Given the description of an element on the screen output the (x, y) to click on. 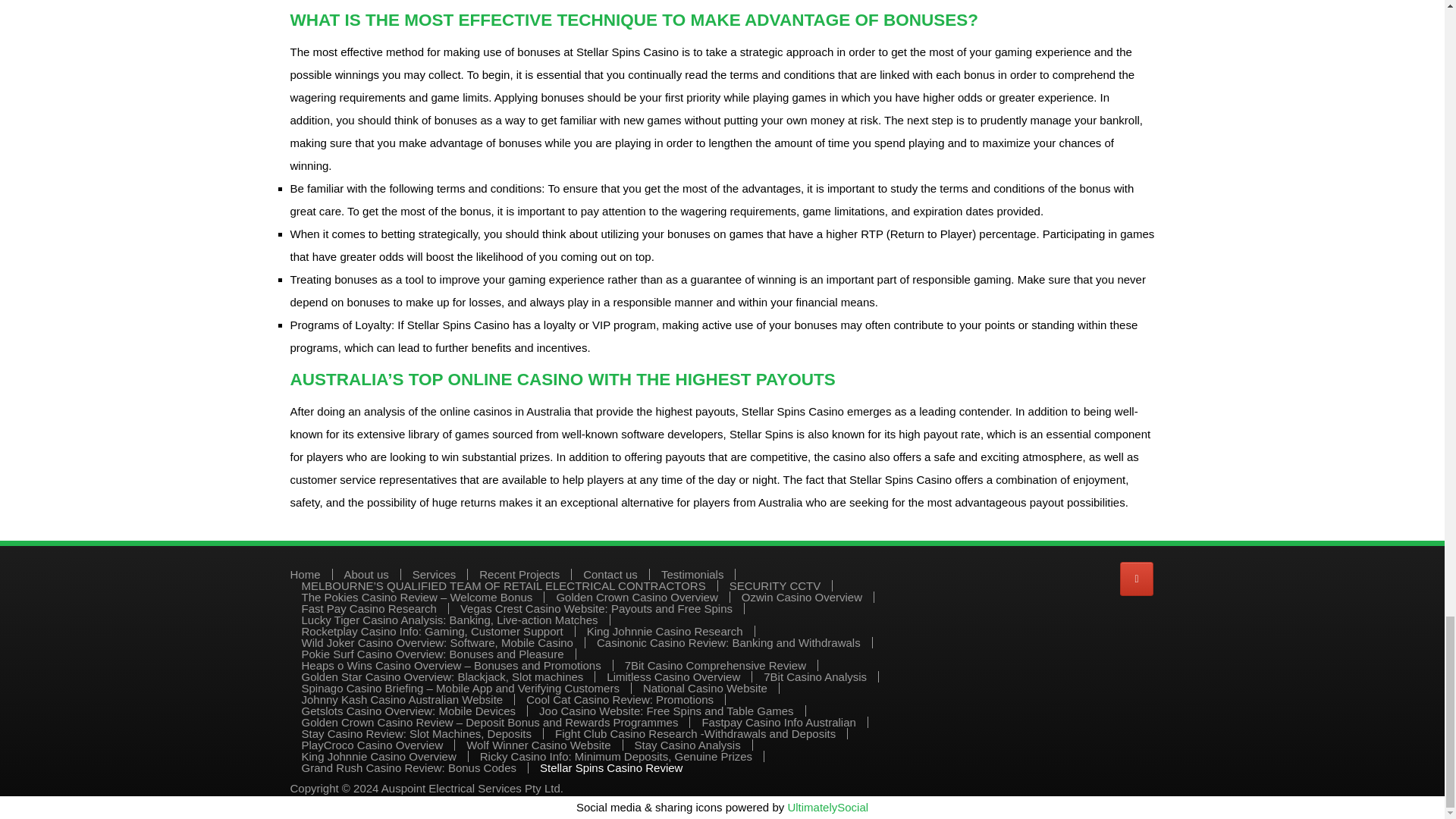
Services (434, 573)
Ozwin Casino Overview (801, 596)
King Johnnie Casino Research (664, 631)
Auspoint Electrical Services Pty Ltd on Google Plus (1136, 578)
Auspoint Electrical Services Pty Ltd (470, 788)
Lucky Tiger Casino Analysis: Banking, Live-action Matches (449, 619)
Testimonials (692, 573)
Home (304, 573)
Golden Crown Casino Overview (636, 596)
About us (365, 573)
Wild Joker Casino Overview: Software, Mobile Casino (437, 642)
Contact us (610, 573)
Vegas Crest Casino Website: Payouts and Free Spins (596, 608)
Recent Projects (519, 573)
Fast Pay Casino Research (368, 608)
